Given the description of an element on the screen output the (x, y) to click on. 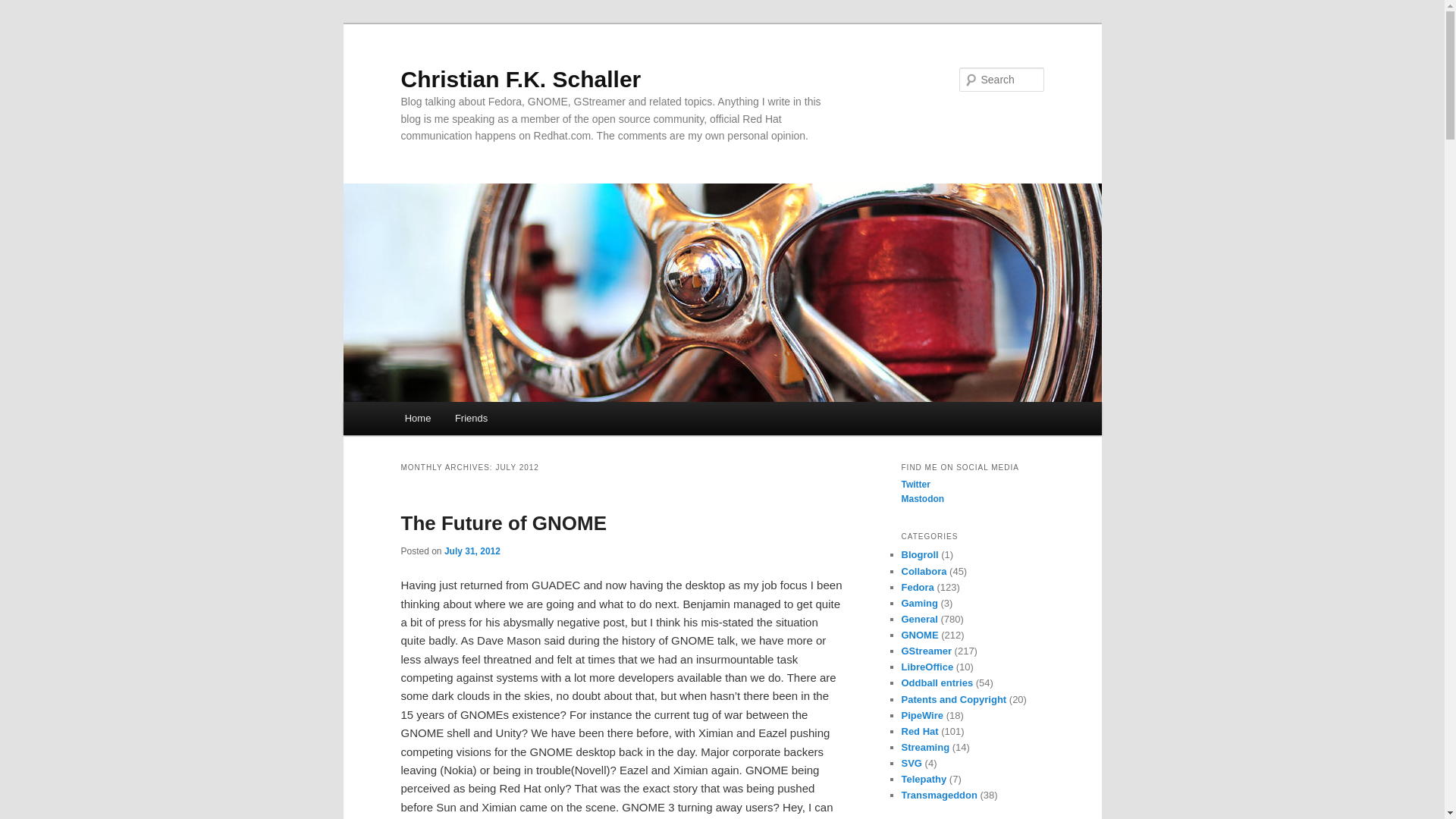
10:26 (472, 551)
Friends (470, 418)
Home (417, 418)
July 31, 2012 (472, 551)
Search (24, 8)
Christian F.K. Schaller (520, 78)
The Future of GNOME (503, 522)
